Given the description of an element on the screen output the (x, y) to click on. 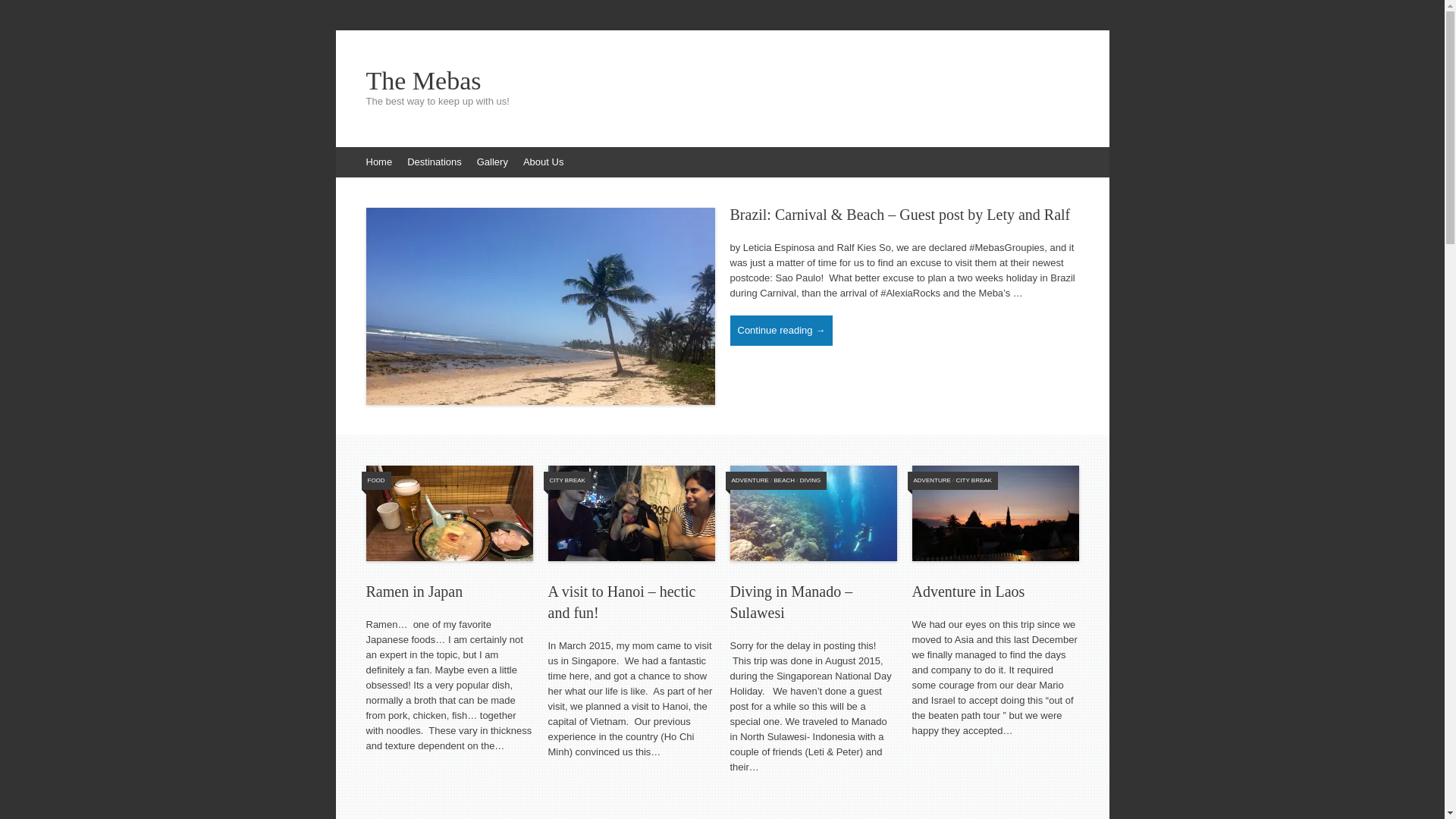
ADVENTURE Element type: text (749, 479)
Home Element type: text (378, 162)
Adventure in Laos Element type: text (967, 591)
ADVENTURE Element type: text (931, 479)
Ramen in Japan Element type: text (413, 591)
CITY BREAK Element type: text (566, 479)
DIVING Element type: text (810, 479)
Destinations Element type: text (434, 162)
Skip to content Element type: text (343, 154)
BEACH Element type: text (784, 479)
CITY BREAK Element type: text (973, 479)
Gallery Element type: text (492, 162)
FOOD Element type: text (375, 479)
The Mebas Element type: text (721, 81)
About Us Element type: text (543, 162)
